Given the description of an element on the screen output the (x, y) to click on. 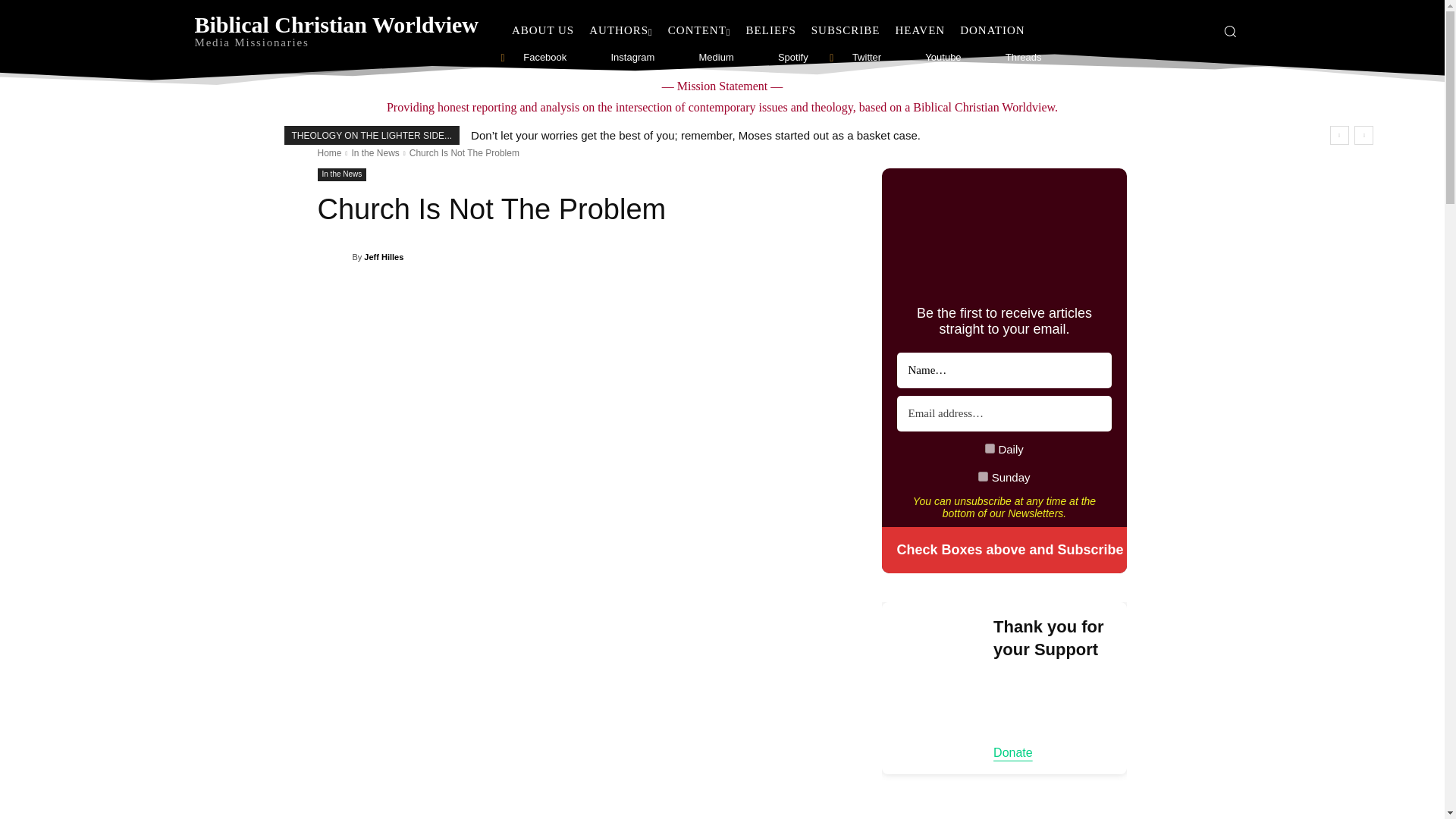
Threads (984, 57)
Instagram (590, 57)
Check Boxes above and Subscribe (1003, 550)
Spotify (757, 57)
iizT3HUV892uRdZ0gxWr3orA (989, 448)
Youtube (904, 57)
Medium (677, 57)
Facebook (502, 57)
prOR2nbP5RwaciBRQ11KQQ (983, 476)
Twitter (831, 57)
